Given the description of an element on the screen output the (x, y) to click on. 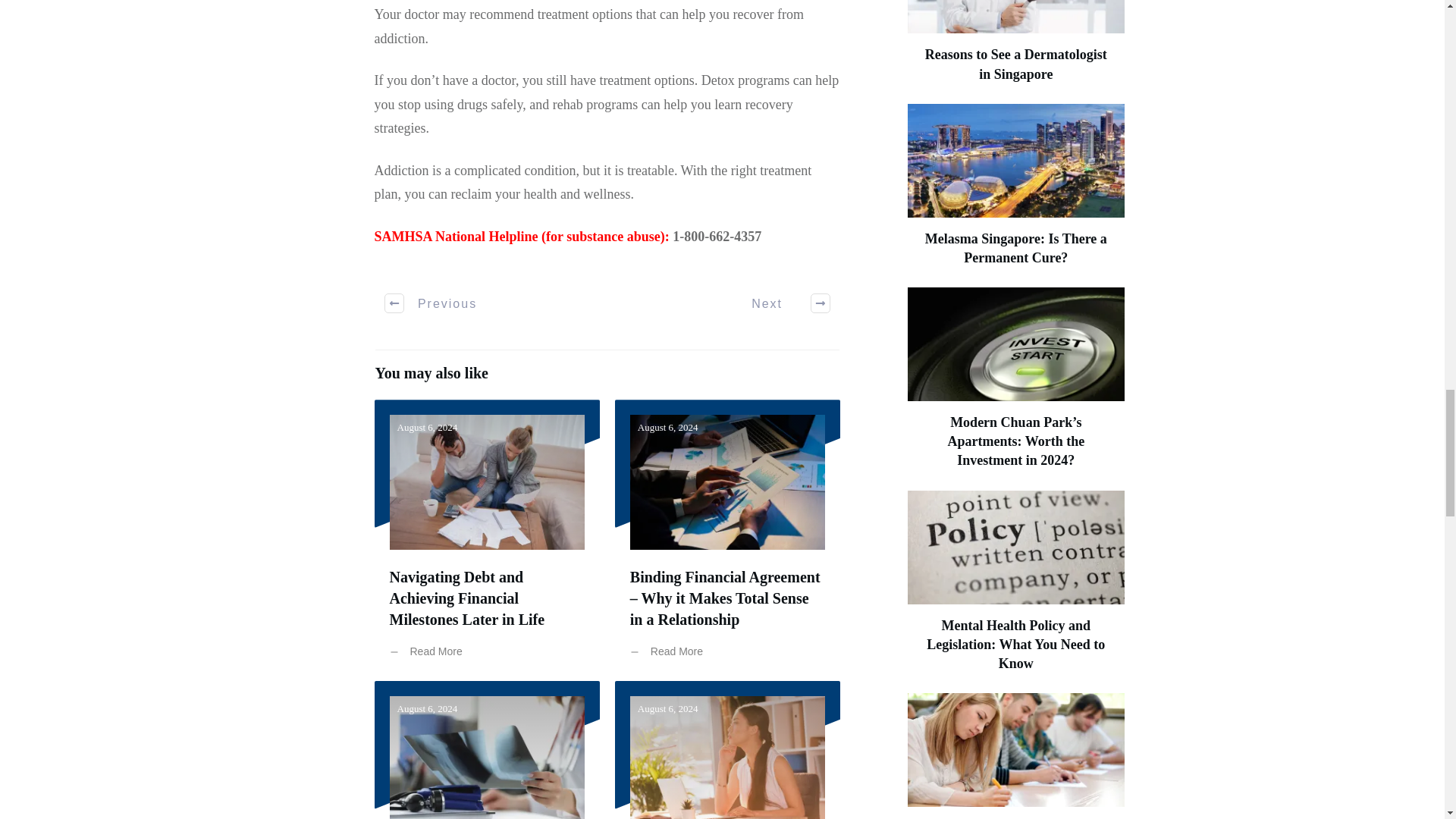
Next (782, 303)
Read More (670, 651)
Read More (430, 651)
Previous (430, 303)
